Given the description of an element on the screen output the (x, y) to click on. 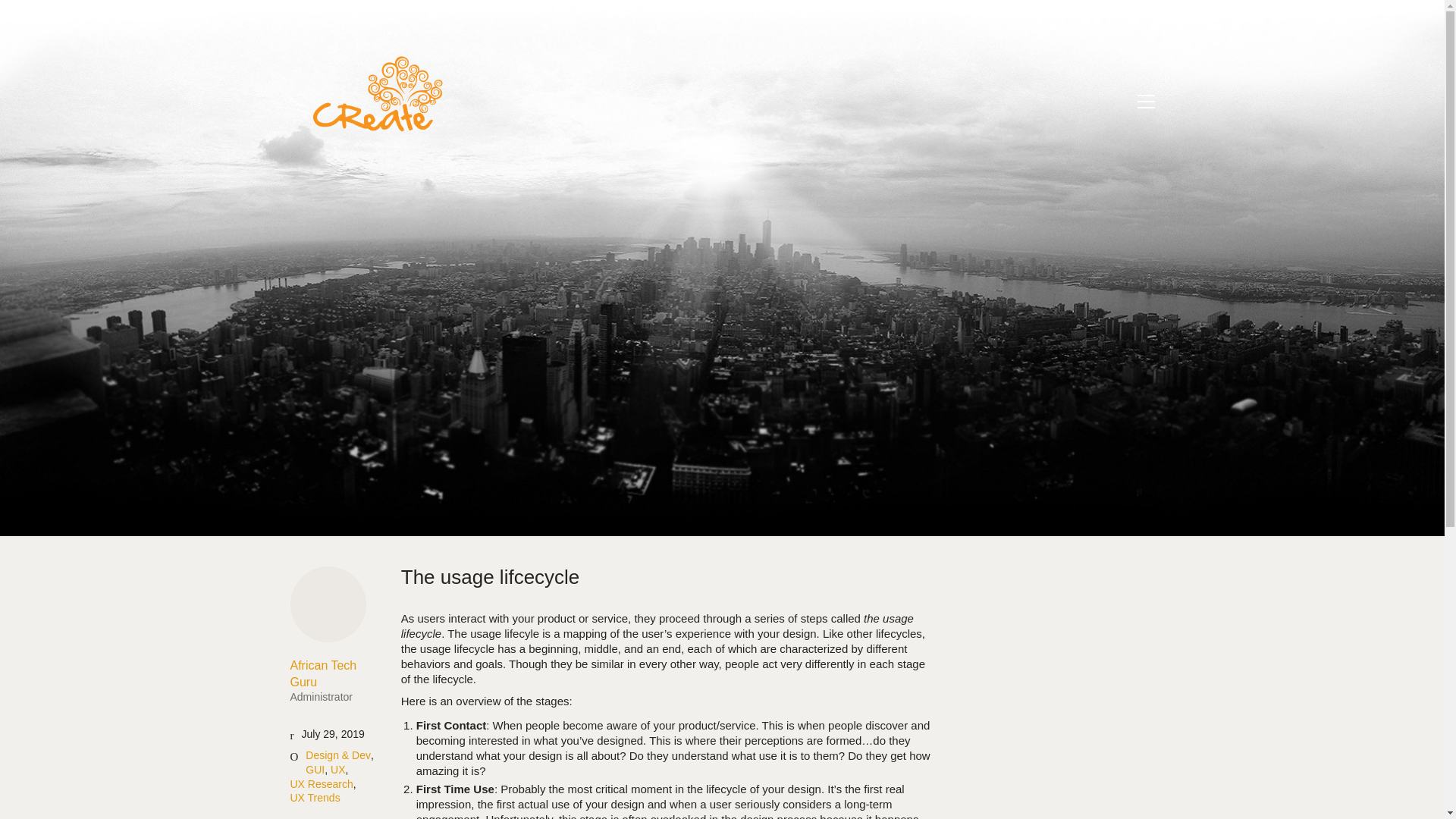
UX (333, 680)
UX Trends (337, 769)
UX Research (314, 798)
GUI (320, 784)
